Given the description of an element on the screen output the (x, y) to click on. 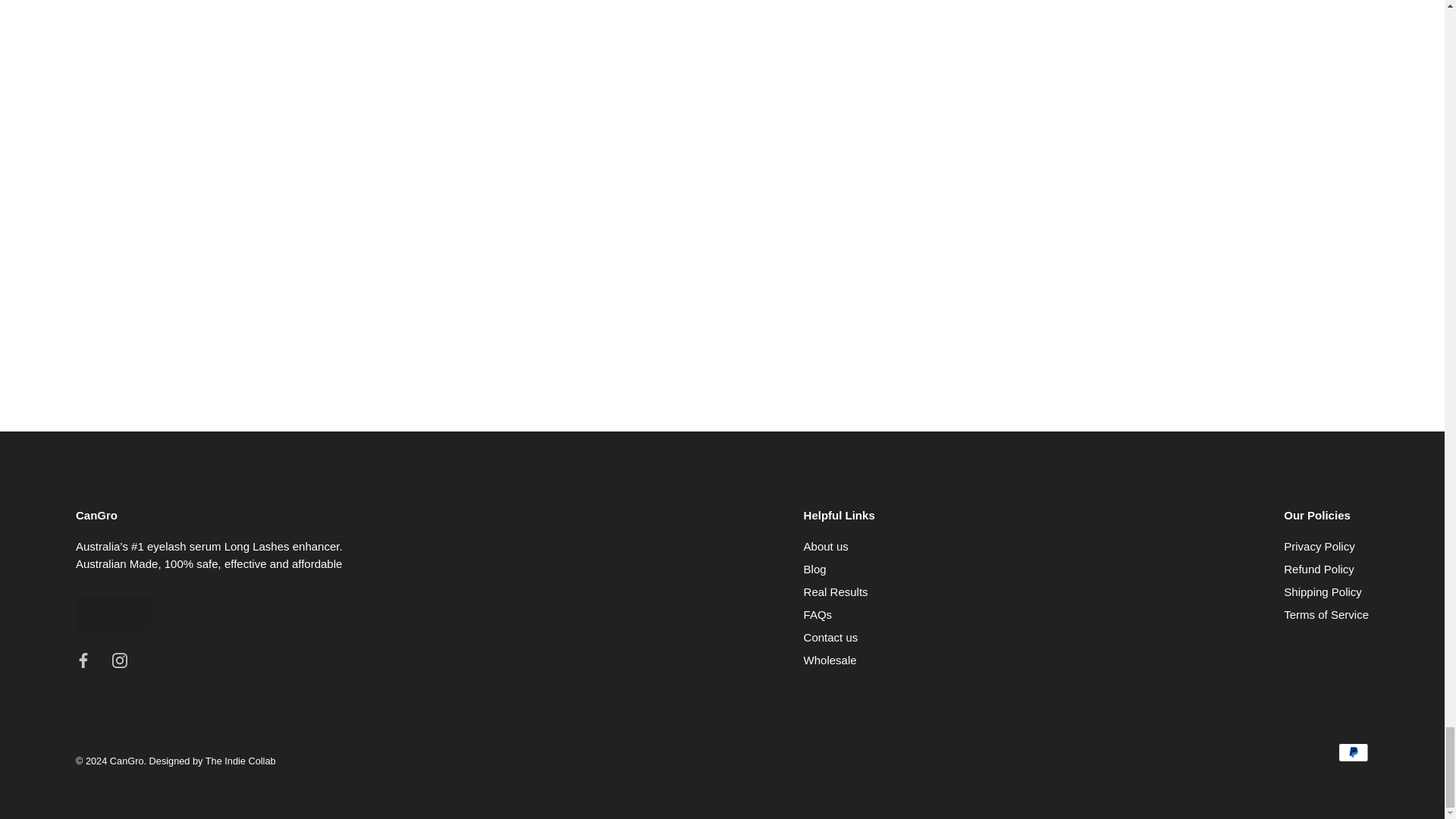
Real Results (835, 591)
Instagram (120, 658)
About us (825, 545)
Blog (815, 568)
Instagram (120, 660)
FAQs (817, 614)
PayPal (1353, 752)
Post comment (721, 243)
